Given the description of an element on the screen output the (x, y) to click on. 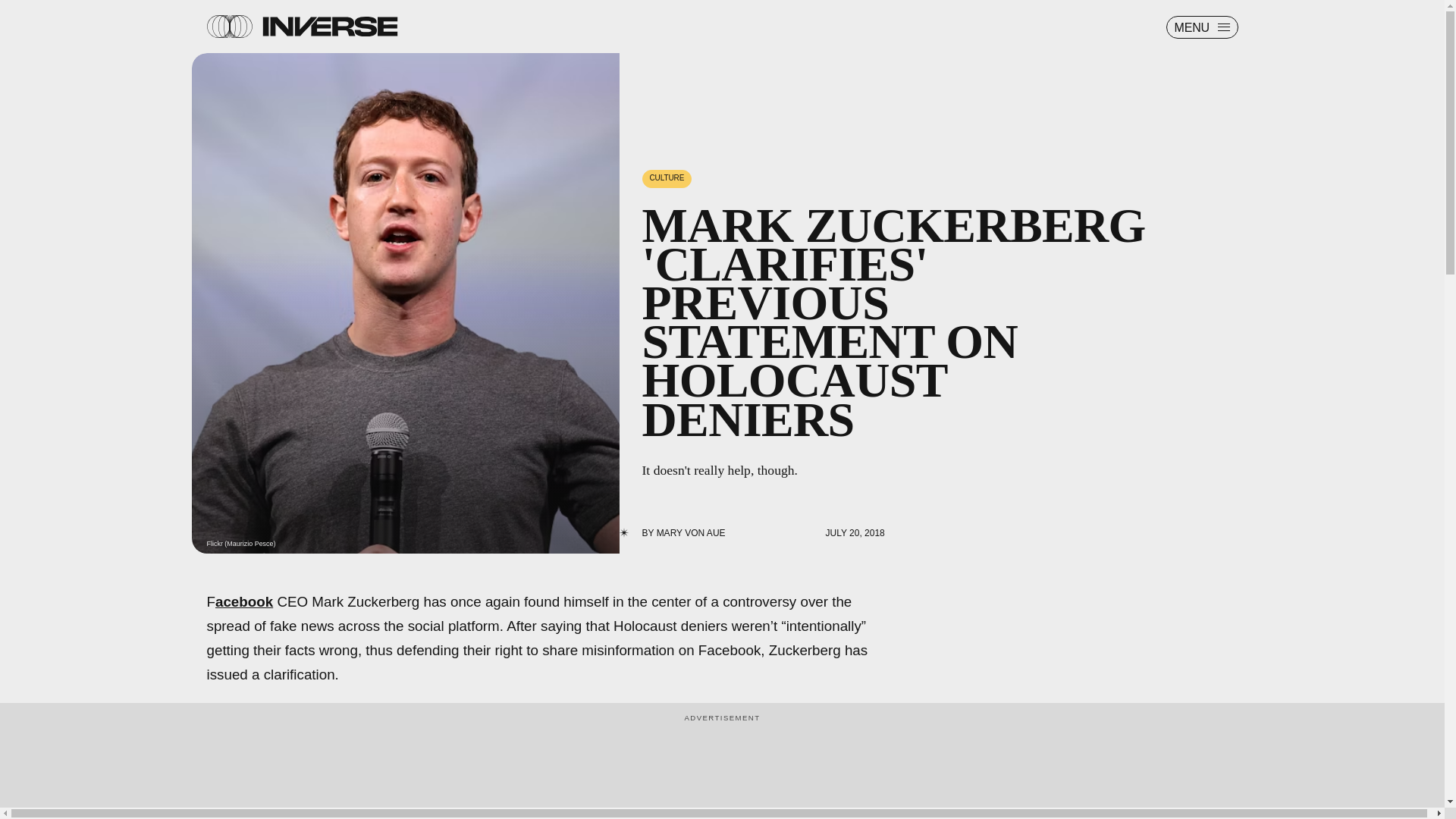
Inverse (328, 26)
acebook (244, 601)
MARY VON AUE (690, 532)
